Given the description of an element on the screen output the (x, y) to click on. 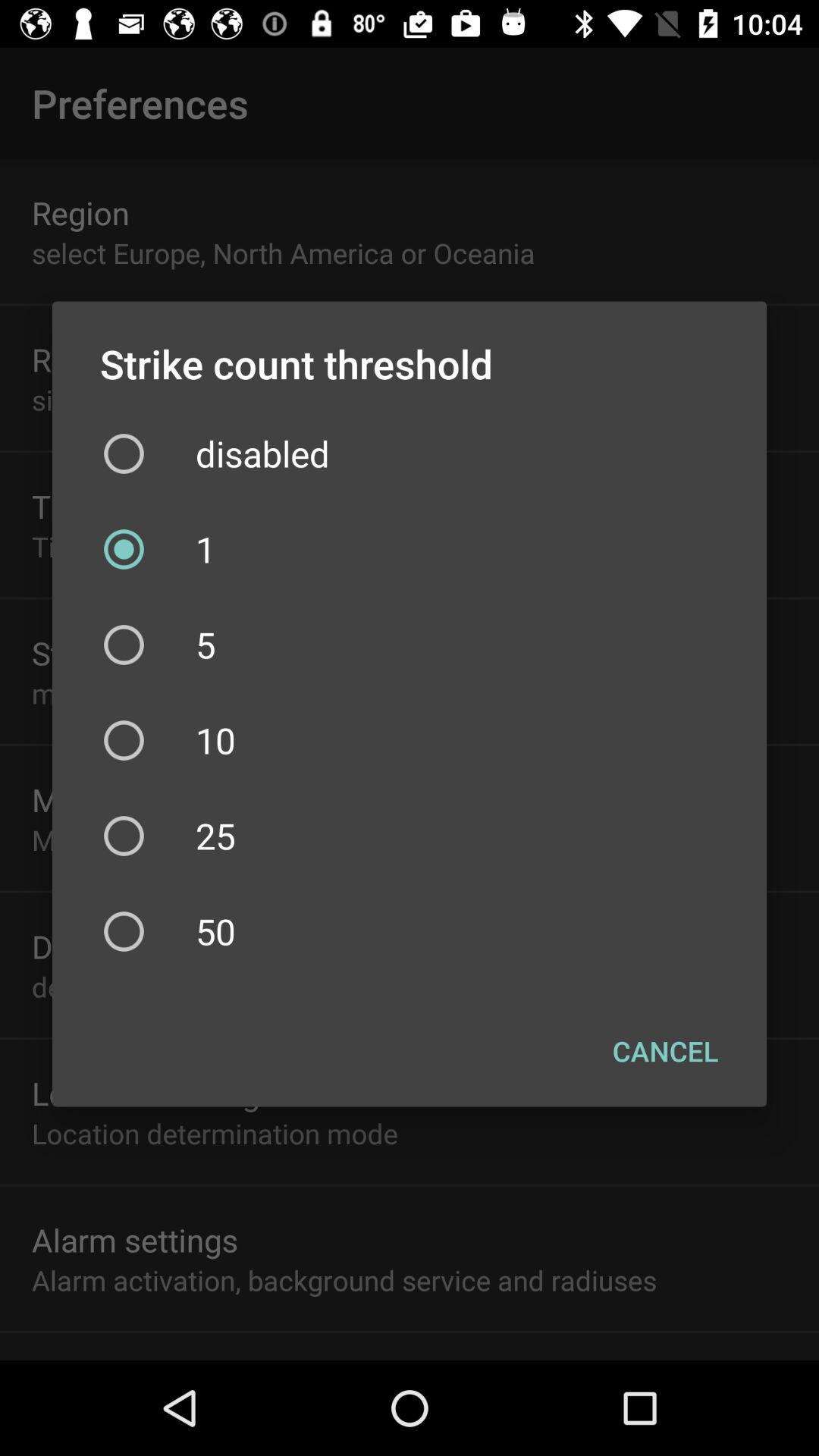
flip until cancel button (665, 1050)
